Given the description of an element on the screen output the (x, y) to click on. 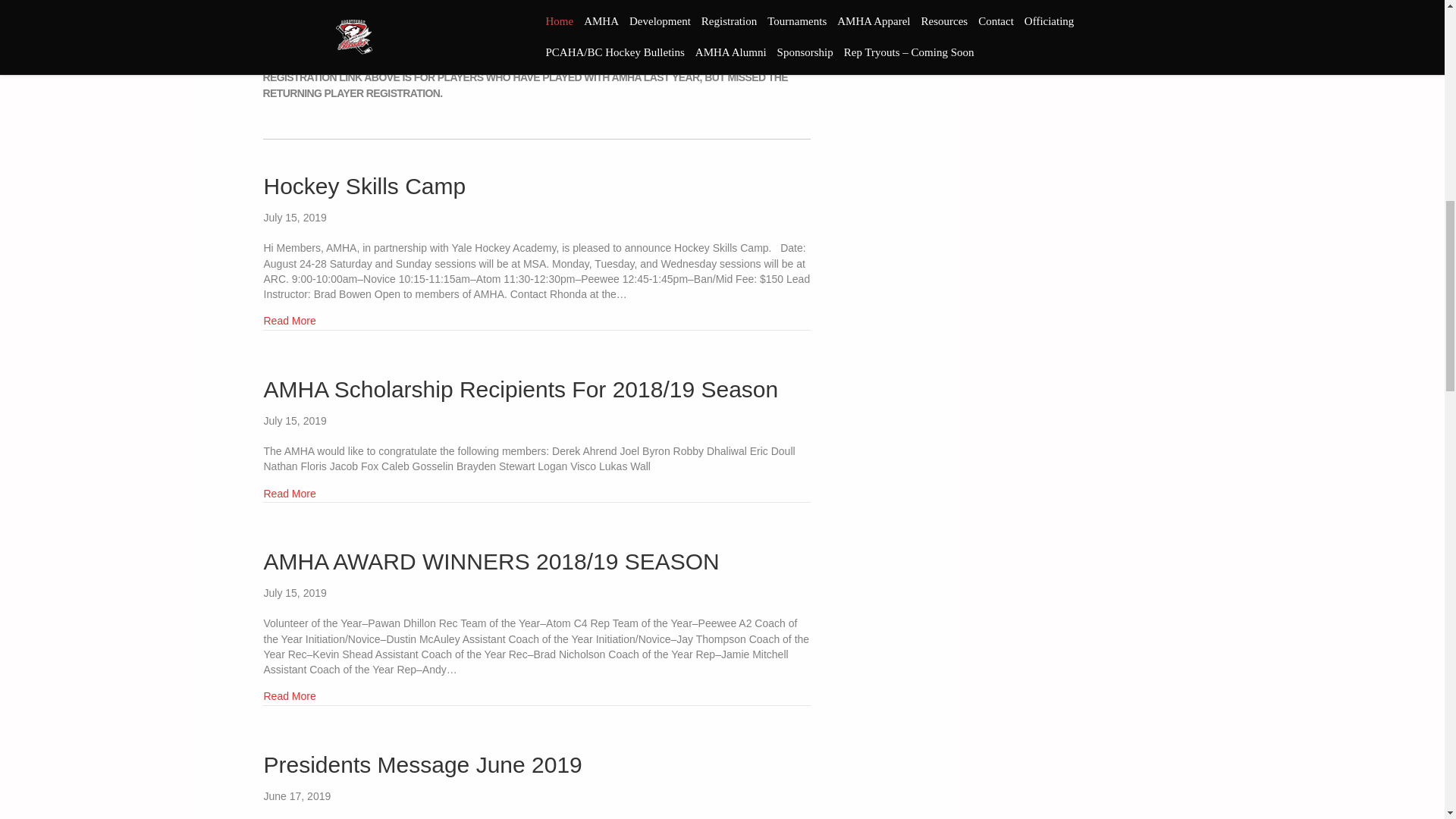
Presidents message June 2019 (422, 764)
Hockey Skills Camp (364, 186)
Hockey Skills Camp (289, 320)
